Given the description of an element on the screen output the (x, y) to click on. 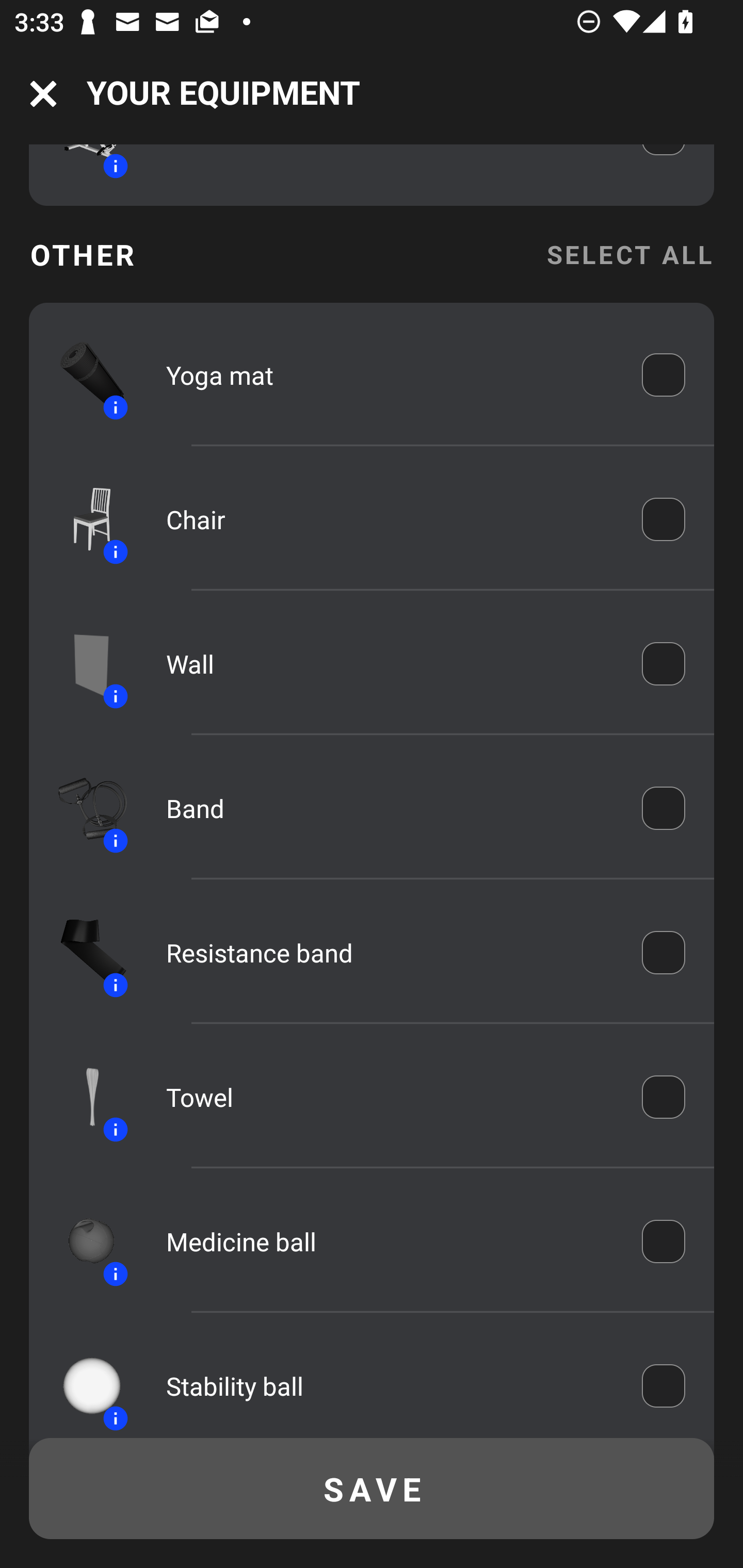
Navigation icon (43, 93)
SELECT ALL (629, 254)
Equipment icon Information icon (82, 375)
Yoga mat (389, 375)
Equipment icon Information icon (82, 519)
Chair (389, 519)
Equipment icon Information icon (82, 663)
Wall (389, 663)
Equipment icon Information icon (82, 808)
Band (389, 808)
Equipment icon Information icon (82, 952)
Resistance band (389, 952)
Equipment icon Information icon (82, 1096)
Towel (389, 1096)
Equipment icon Information icon (82, 1240)
Medicine ball (389, 1240)
Equipment icon Information icon (82, 1384)
Stability ball (389, 1386)
SAVE (371, 1488)
